Given the description of an element on the screen output the (x, y) to click on. 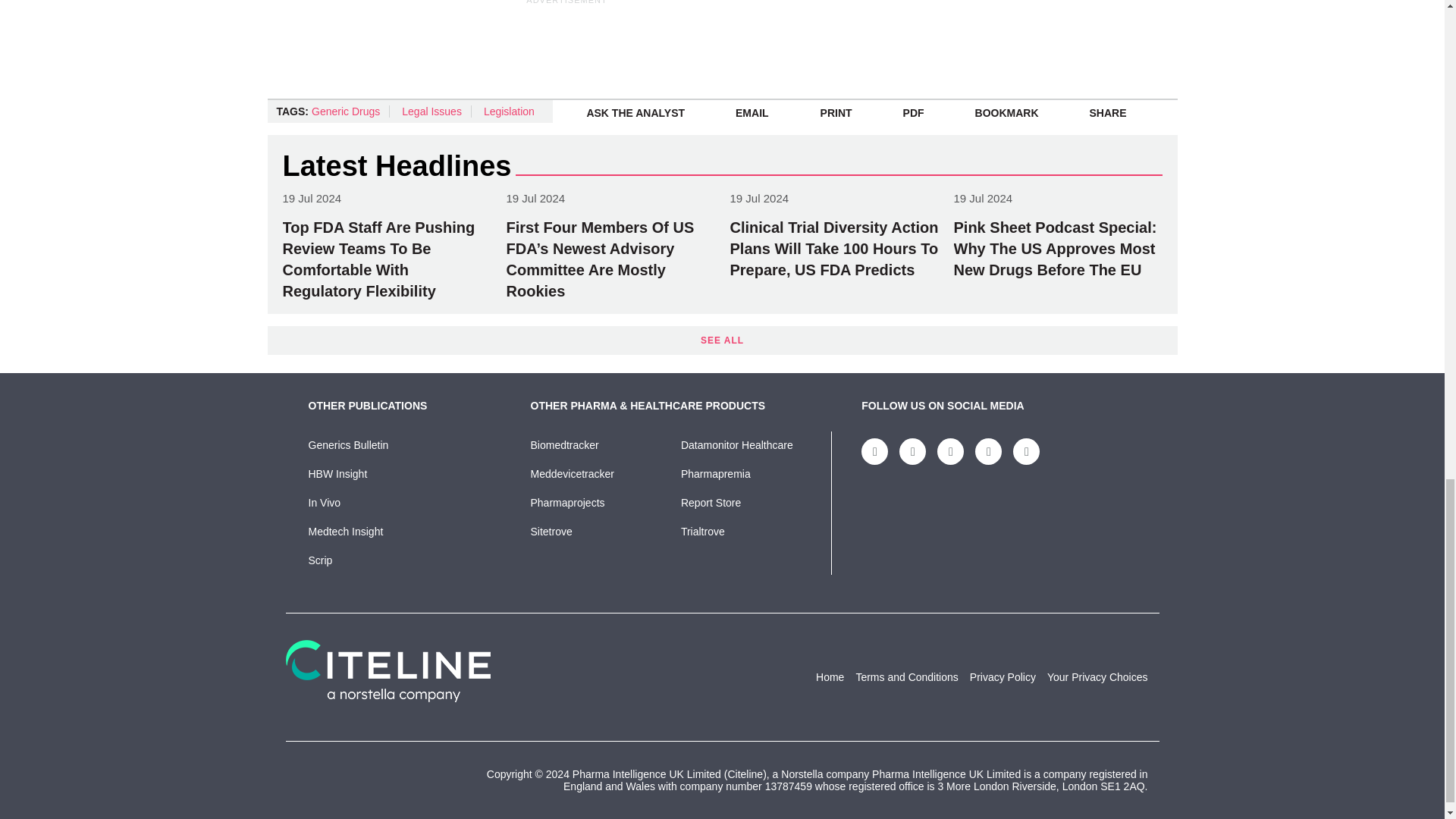
3rd party ad content (634, 41)
